Given the description of an element on the screen output the (x, y) to click on. 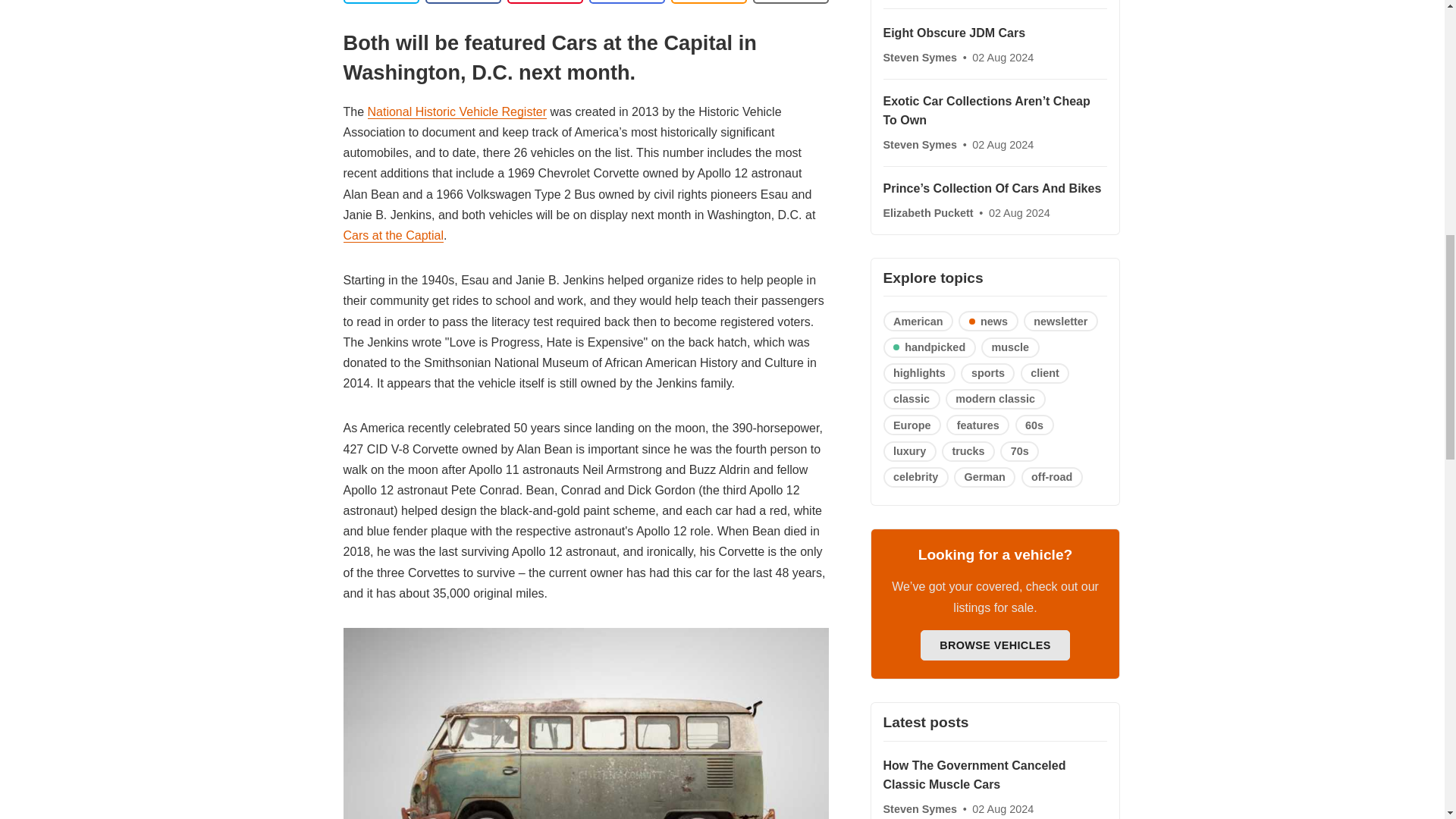
Steven Symes (920, 57)
newsletter (1060, 321)
news (987, 321)
Cars at the Captial (393, 235)
Steven Symes (920, 144)
Share on Twitter (380, 1)
Share by email (625, 1)
Share on Facebook (462, 1)
Elizabeth Puckett (928, 213)
American (917, 321)
Share on Linkedin (544, 1)
Bookmark (790, 1)
National Historic Vehicle Register (457, 111)
Copy to clipboard (707, 1)
